Given the description of an element on the screen output the (x, y) to click on. 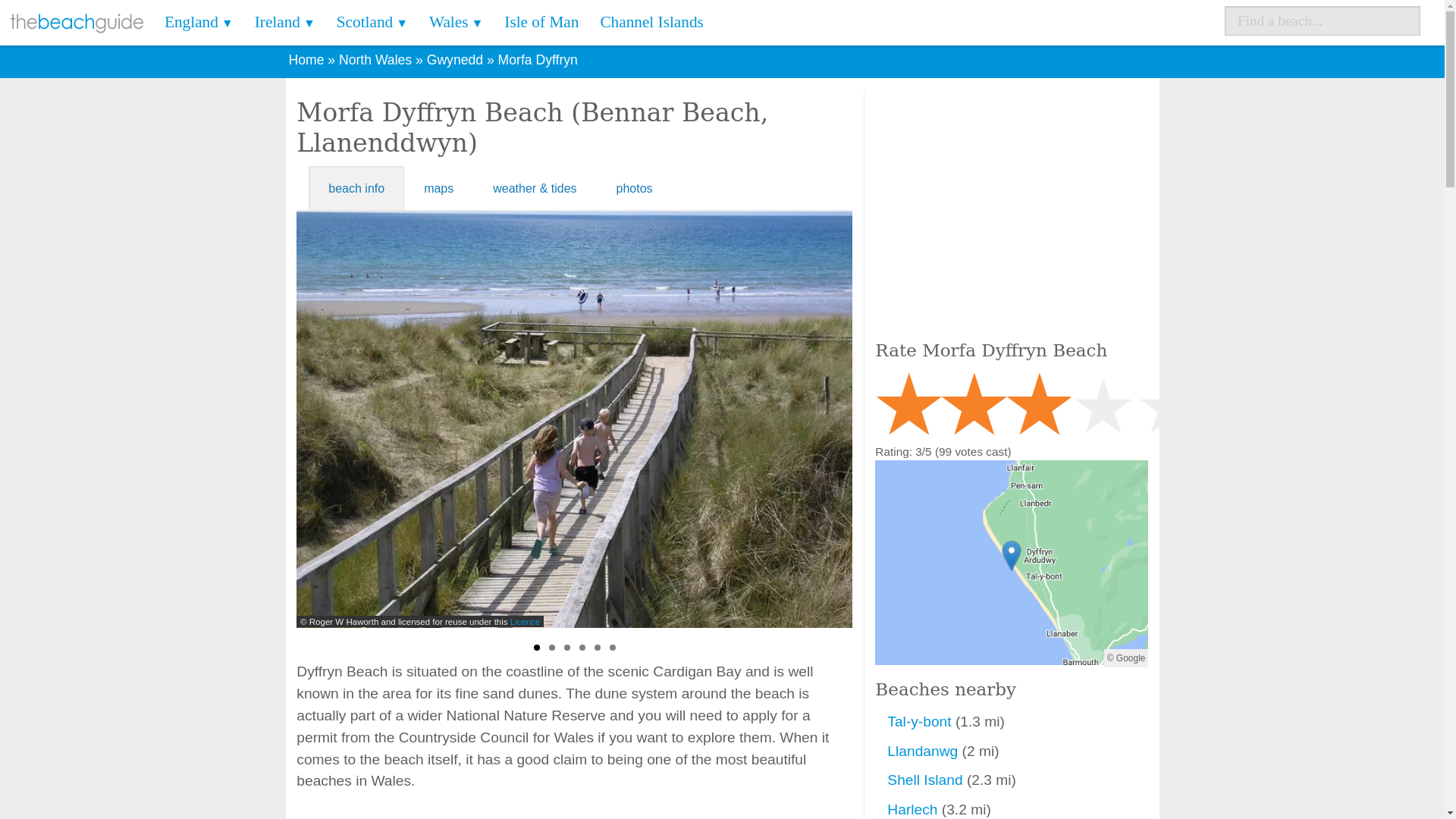
Licence (525, 620)
Shell Island (926, 779)
Channel Islands (651, 22)
Llandanwg (923, 750)
maps (438, 187)
Morfa Dyffryn Beach beach photos (634, 187)
Morfa Dyffryn Beach weather reports (534, 187)
North Wales (375, 59)
Gwynedd (454, 59)
Licence (1072, 620)
Tal-y-bont (920, 721)
photos (634, 187)
beach info (356, 187)
Home (305, 59)
Morfa Dyffryn Beach beach maps (438, 187)
